Given the description of an element on the screen output the (x, y) to click on. 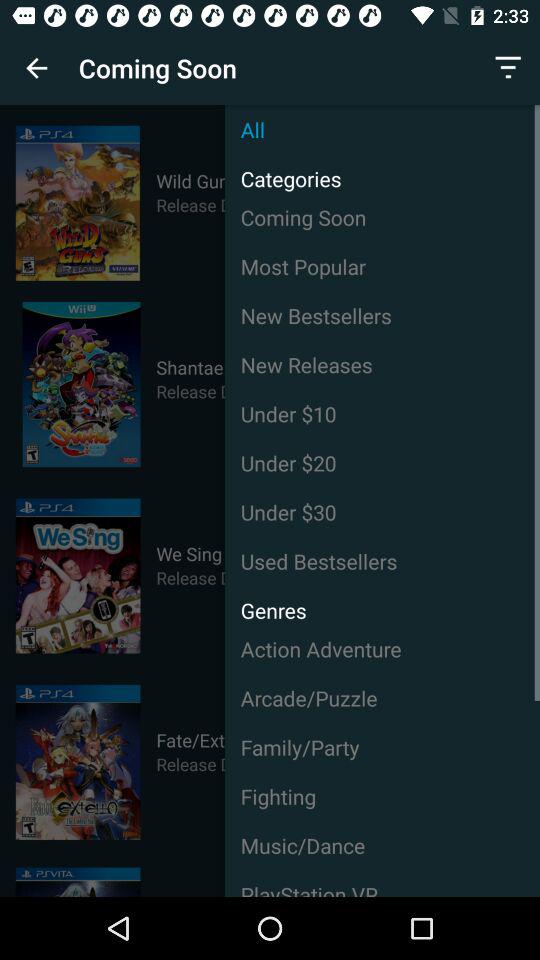
press icon to the right of the we sing (382, 511)
